Given the description of an element on the screen output the (x, y) to click on. 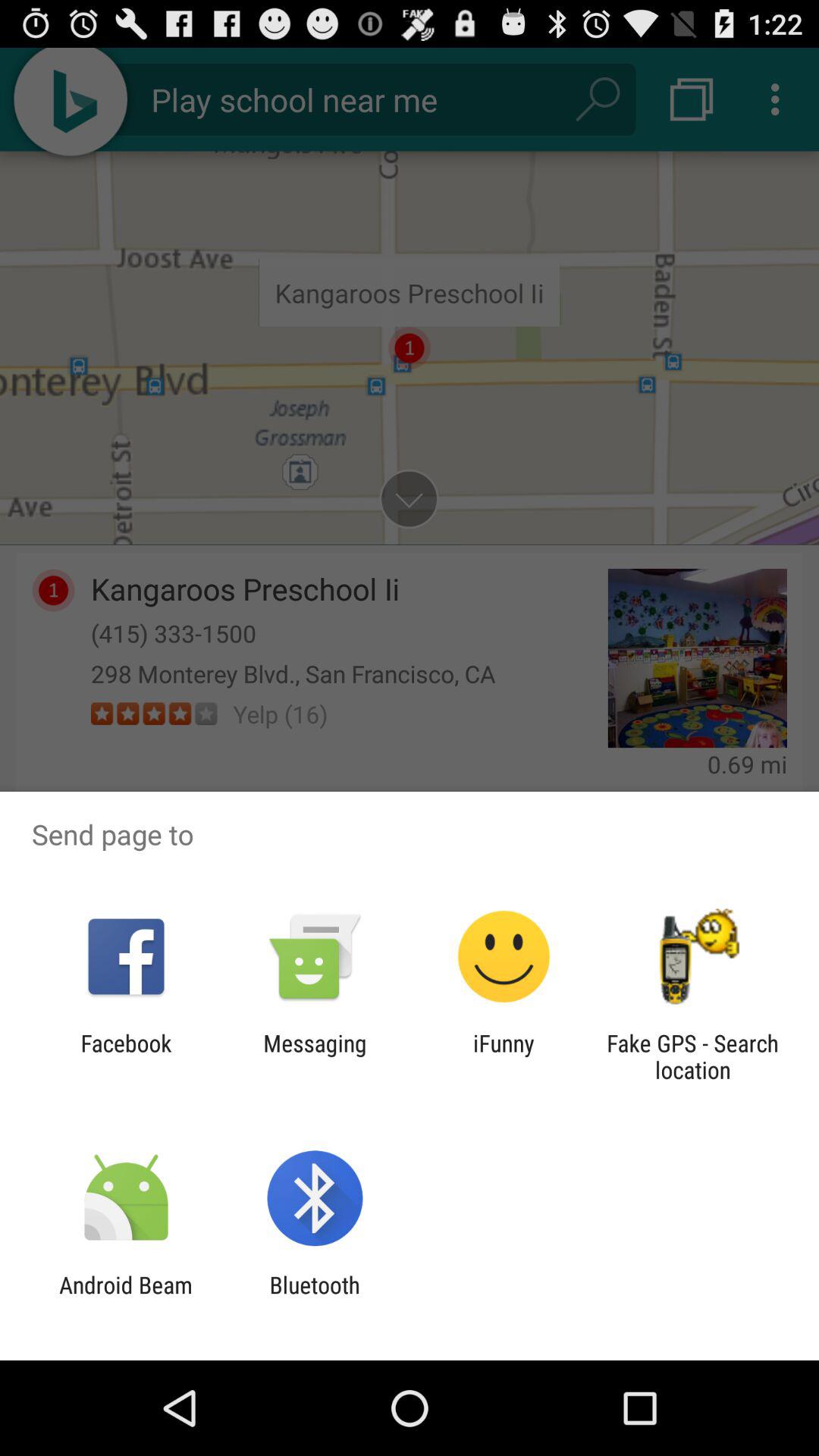
turn off app to the left of the bluetooth app (125, 1298)
